Given the description of an element on the screen output the (x, y) to click on. 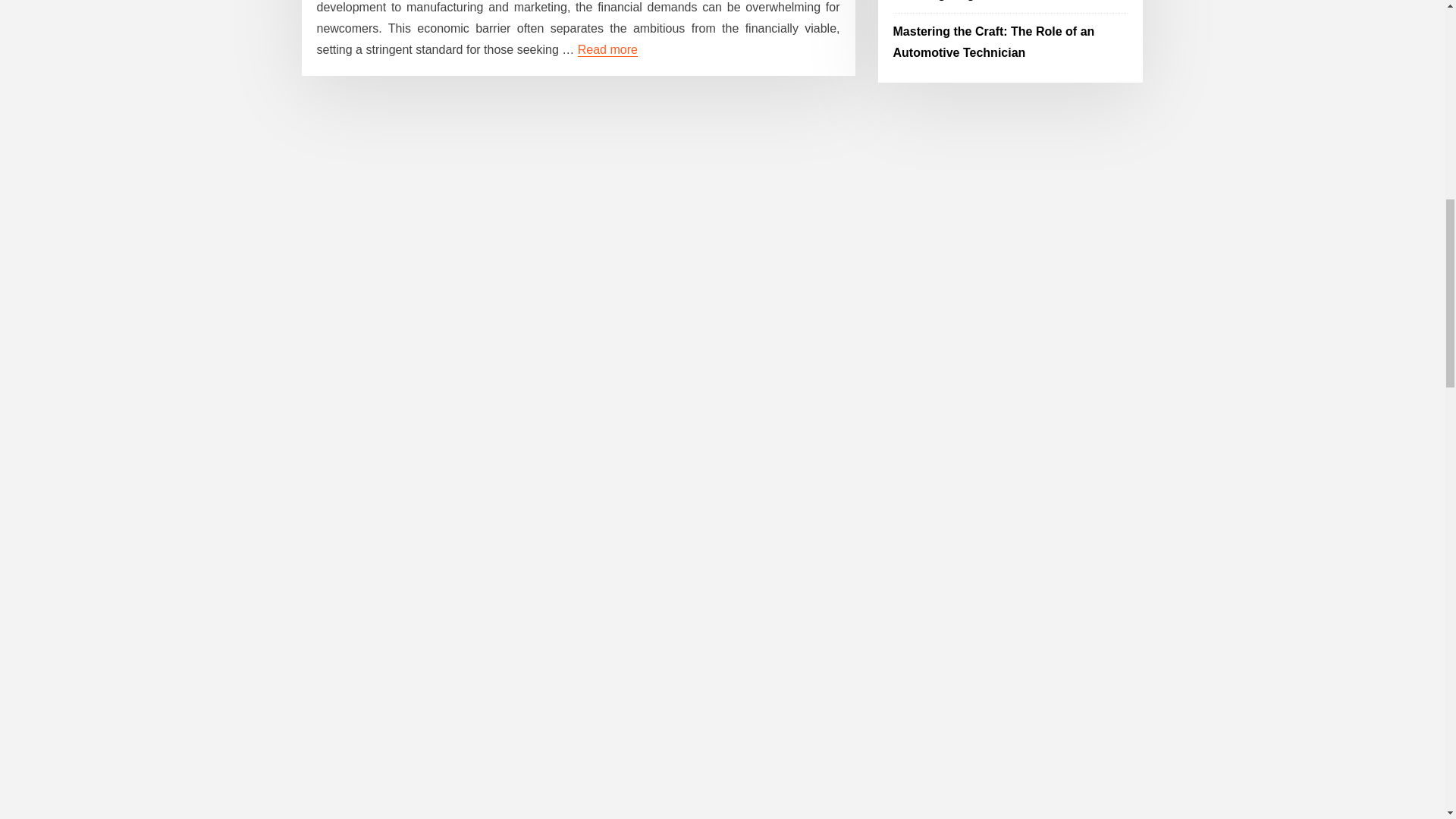
Read more (607, 49)
